Given the description of an element on the screen output the (x, y) to click on. 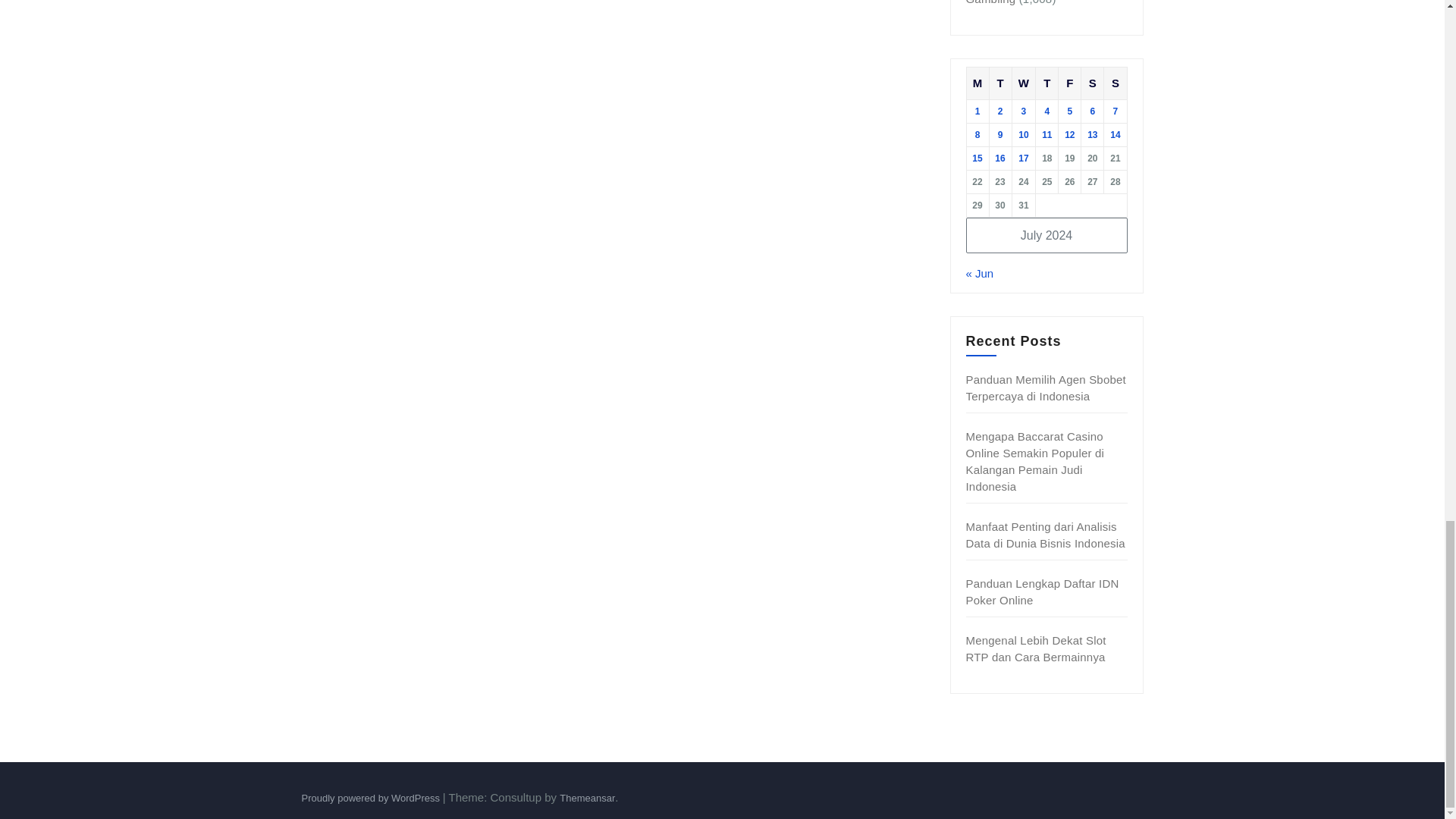
Wednesday (1023, 83)
Saturday (1092, 83)
Friday (1069, 83)
Tuesday (999, 83)
Monday (977, 83)
Sunday (1114, 83)
Thursday (1046, 83)
